Given the description of an element on the screen output the (x, y) to click on. 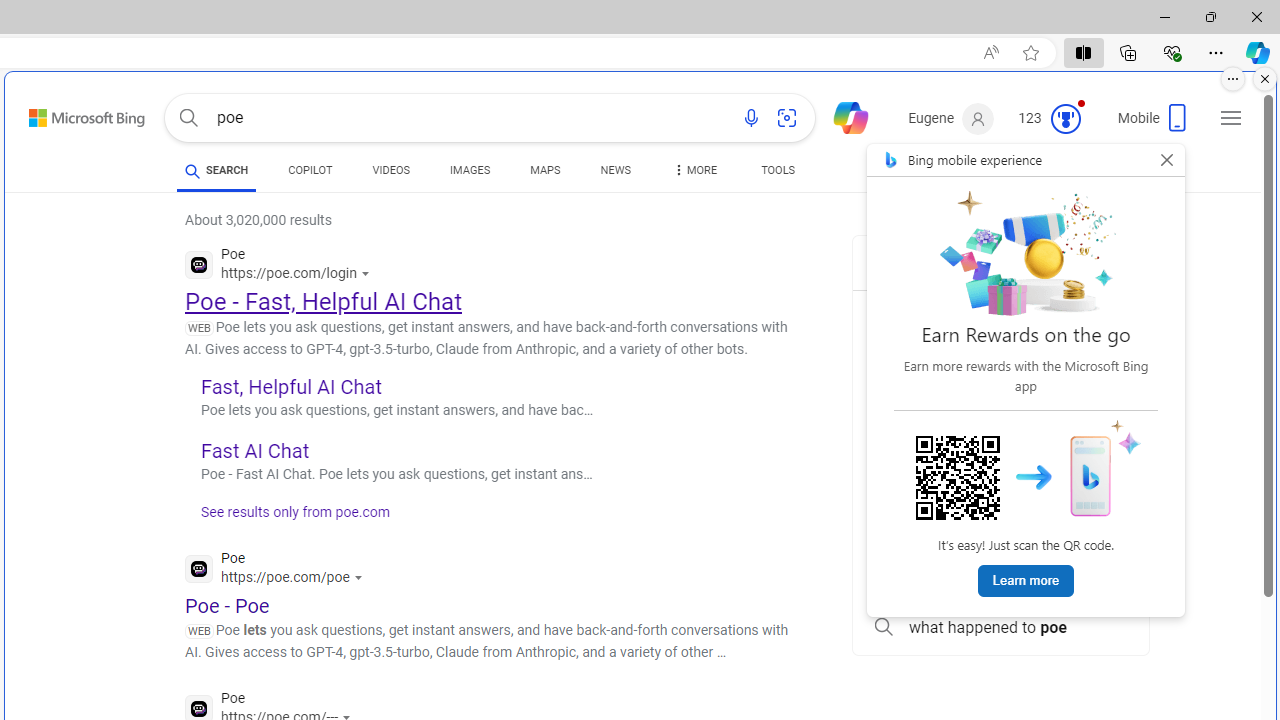
Poe - Fast, Helpful AI Chat (323, 301)
Fast, Helpful AI Chat (290, 385)
TOOLS (777, 173)
Chat (842, 116)
